Given the description of an element on the screen output the (x, y) to click on. 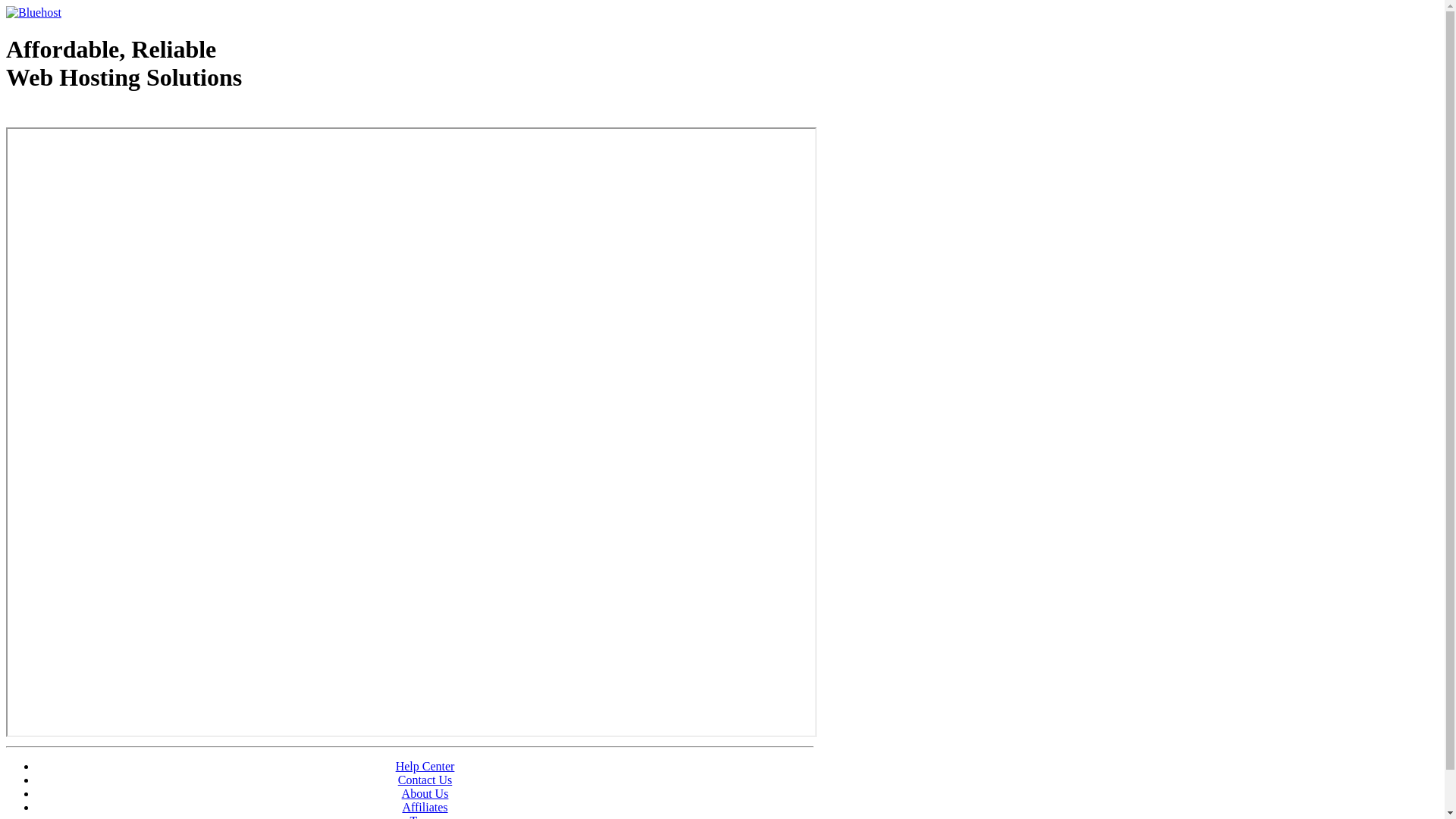
Help Center Element type: text (425, 765)
About Us Element type: text (424, 793)
Web Hosting - courtesy of www.bluehost.com Element type: text (94, 115)
Contact Us Element type: text (425, 779)
Affiliates Element type: text (424, 806)
